Given the description of an element on the screen output the (x, y) to click on. 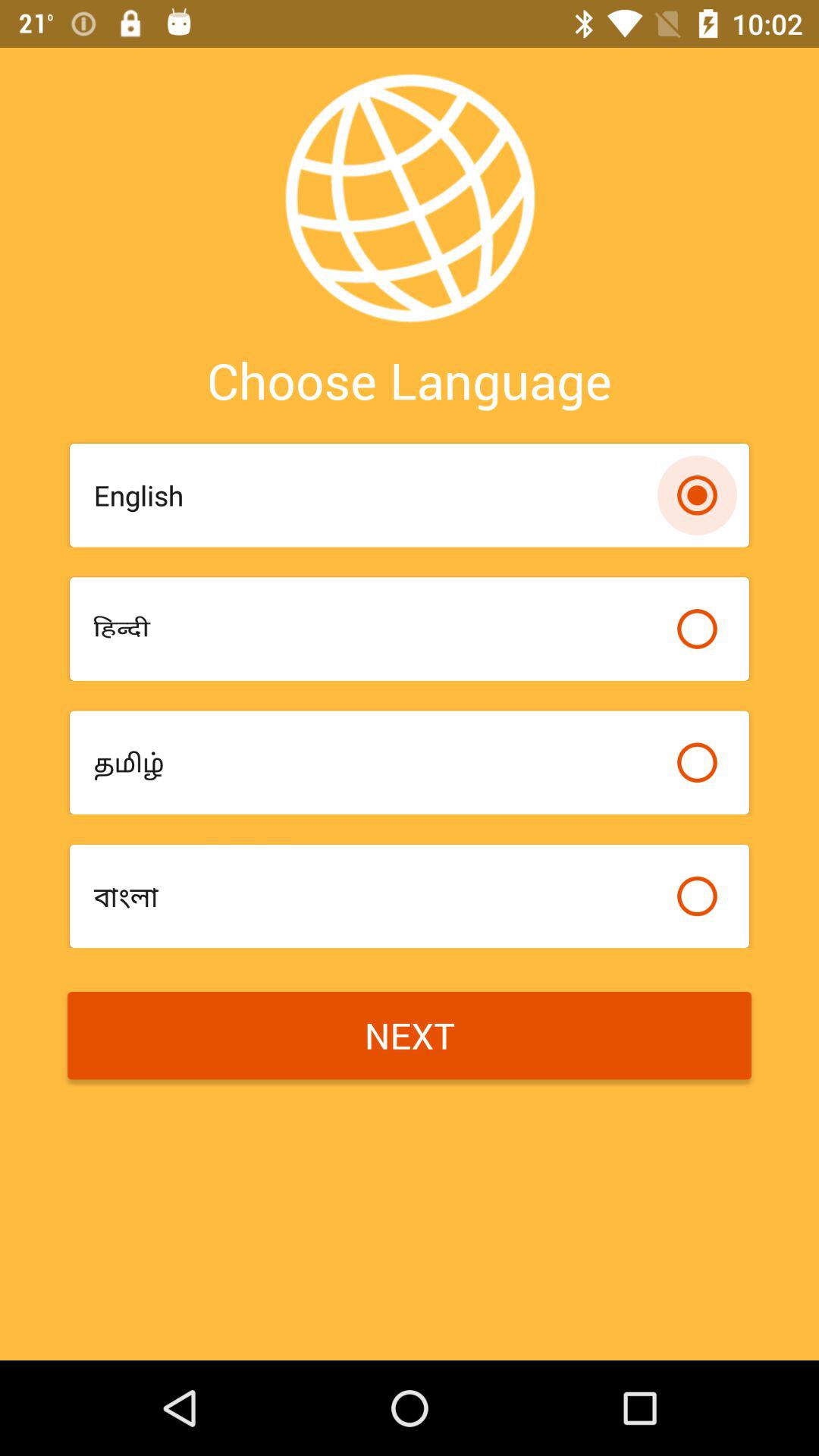
select language (697, 628)
